Given the description of an element on the screen output the (x, y) to click on. 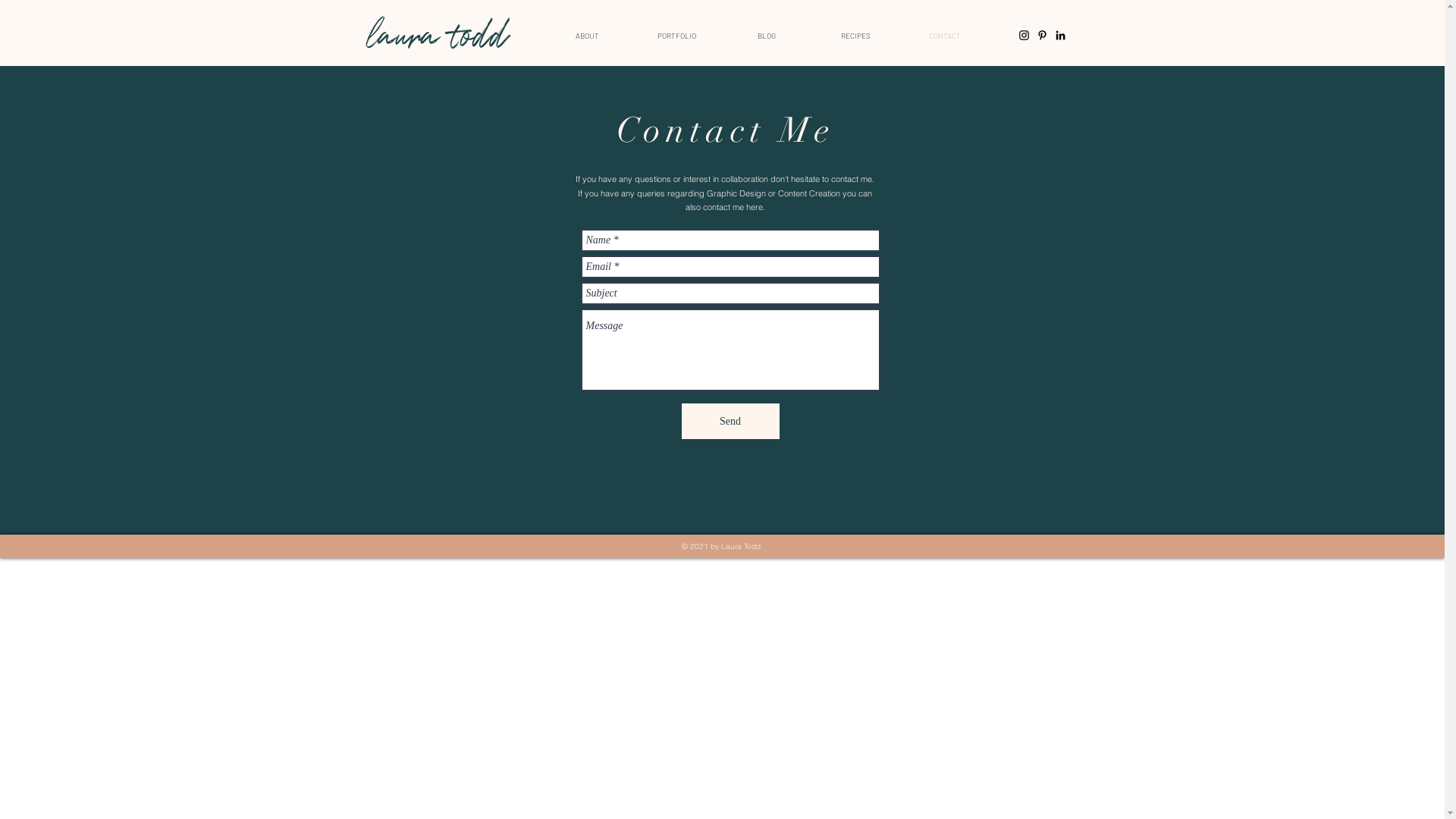
PORTFOLIO Element type: text (676, 35)
ABOUT Element type: text (587, 35)
Send Element type: text (729, 421)
RECIPES Element type: text (855, 35)
CONTACT Element type: text (944, 35)
BLOG Element type: text (766, 35)
